Given the description of an element on the screen output the (x, y) to click on. 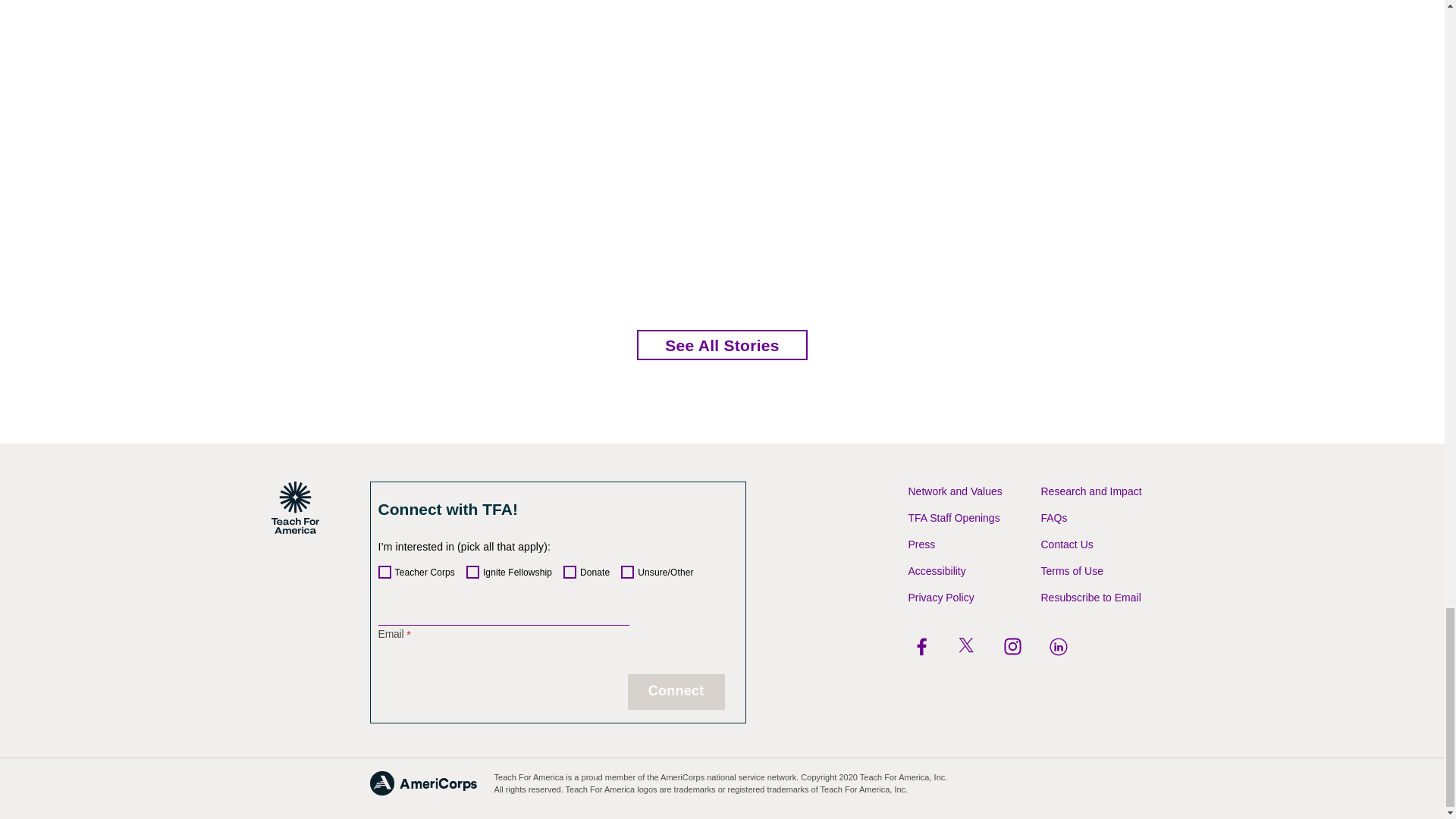
TFA Staff Openings (954, 517)
Network and Values (955, 491)
Connect (676, 692)
Connect (676, 692)
Research and Impact (1091, 491)
See All Stories (721, 345)
FAQs (1054, 517)
